Given the description of an element on the screen output the (x, y) to click on. 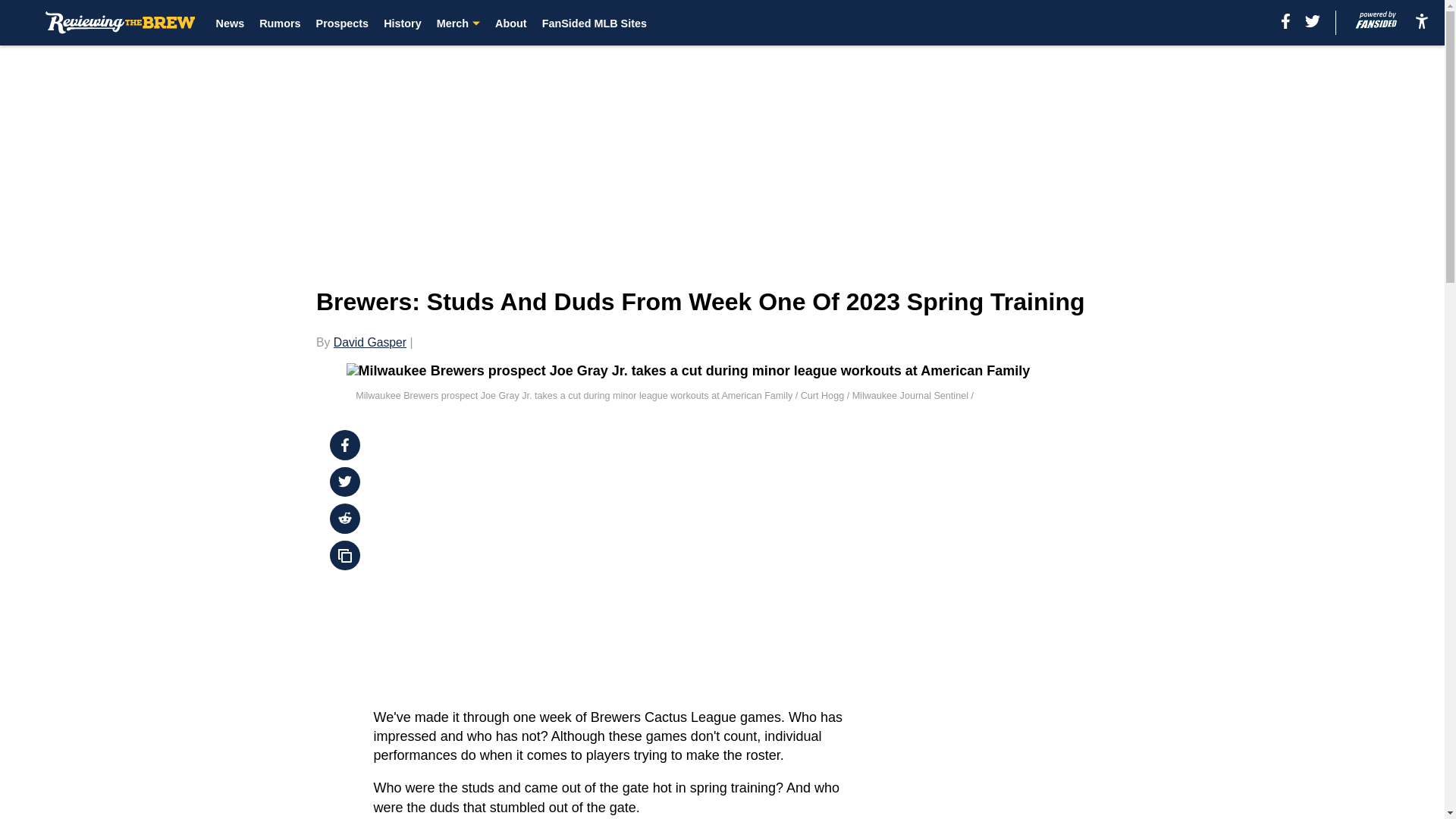
FanSided MLB Sites (593, 23)
Rumors (279, 23)
David Gasper (369, 341)
History (403, 23)
News (229, 23)
Prospects (342, 23)
About (511, 23)
